Given the description of an element on the screen output the (x, y) to click on. 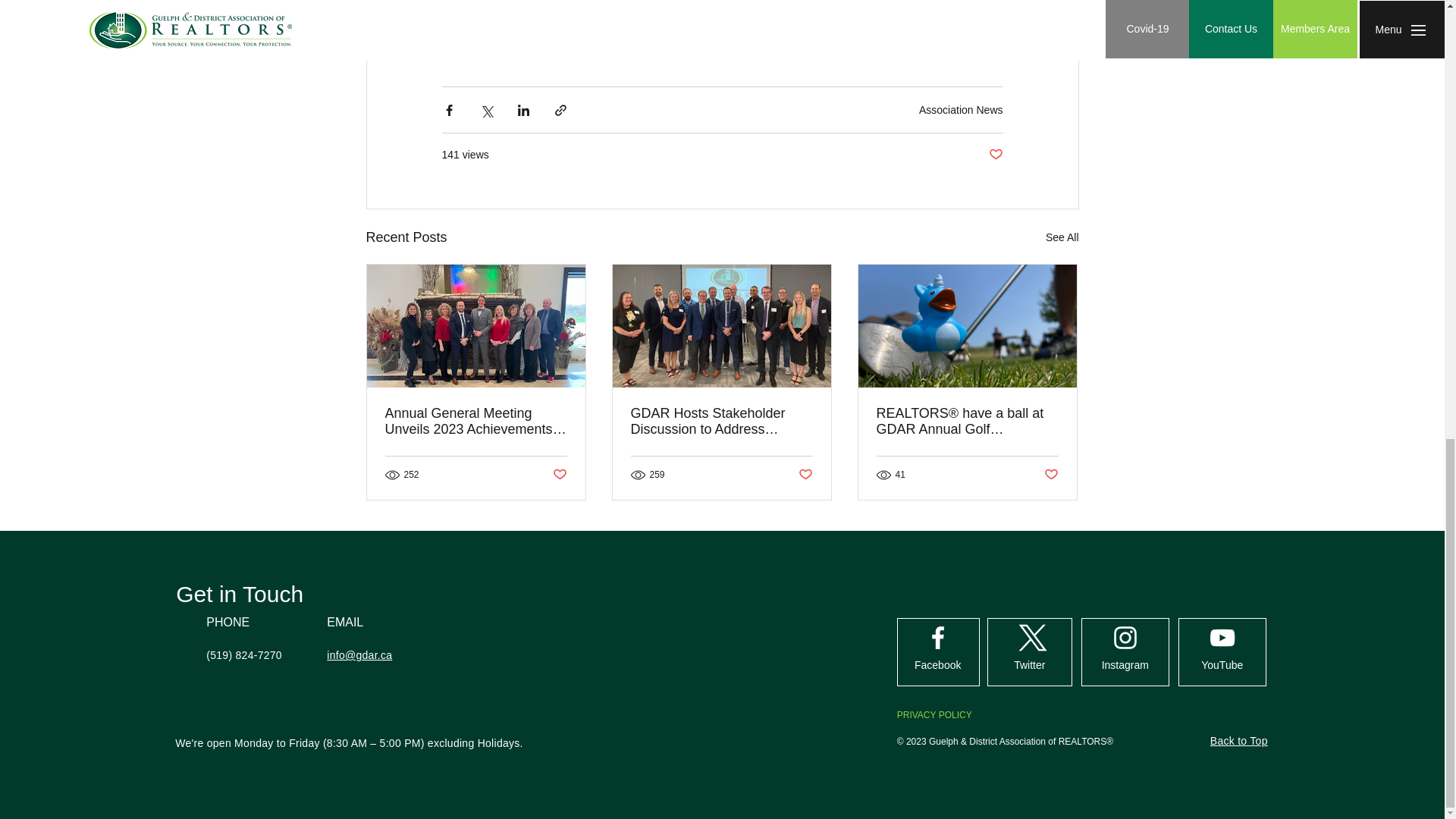
PRIVACY POLICY (934, 715)
Post not marked as liked (1050, 474)
GDAR Hosts Stakeholder Discussion to Address Housing Crisis (721, 421)
See All (1061, 237)
Post not marked as liked (558, 474)
Post not marked as liked (804, 474)
Facebook (938, 665)
Post not marked as liked (995, 154)
Association News (960, 110)
Back to Top (1238, 740)
